Given the description of an element on the screen output the (x, y) to click on. 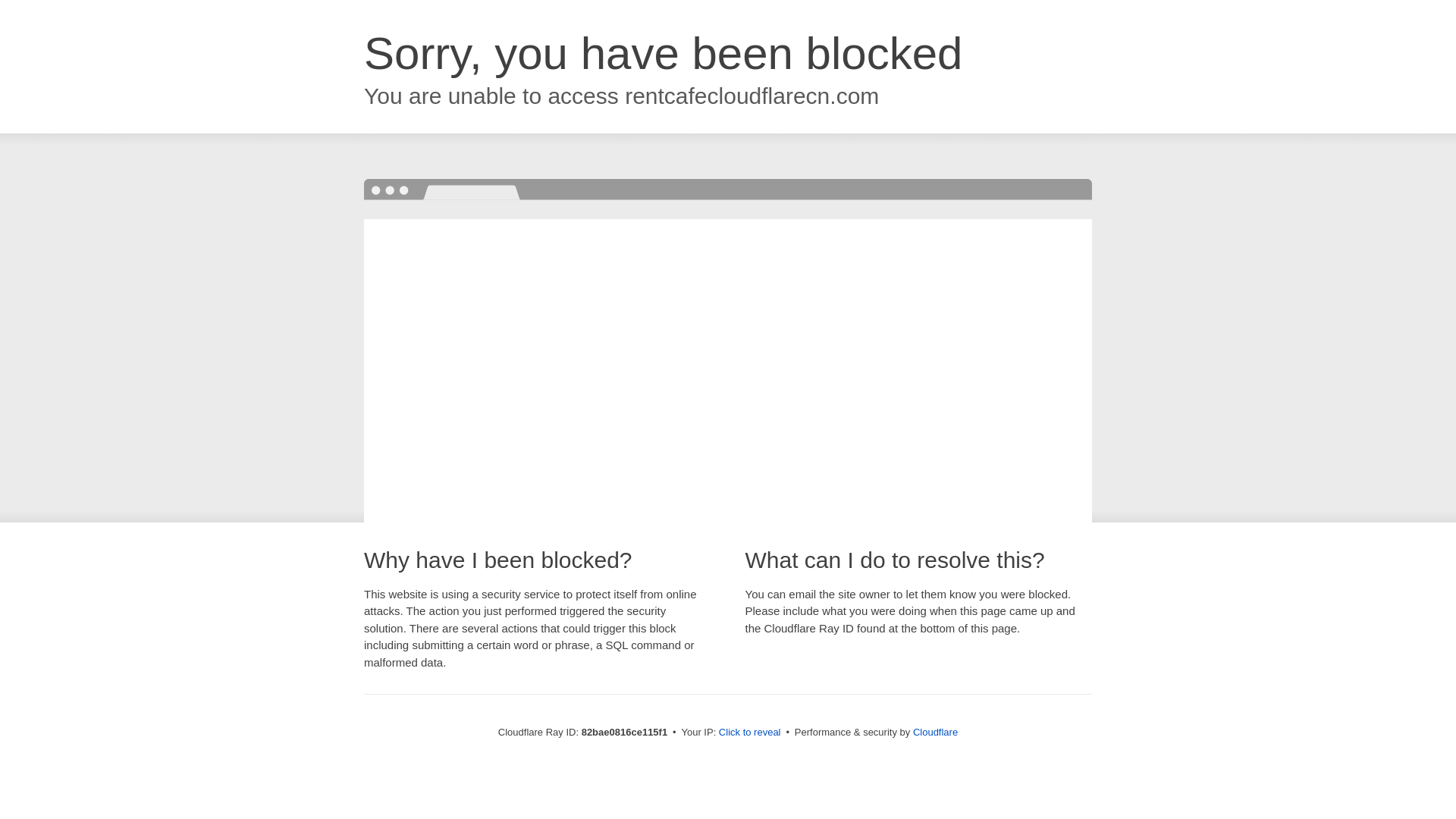
Cloudflare Element type: text (935, 731)
Click to reveal Element type: text (749, 732)
